Given the description of an element on the screen output the (x, y) to click on. 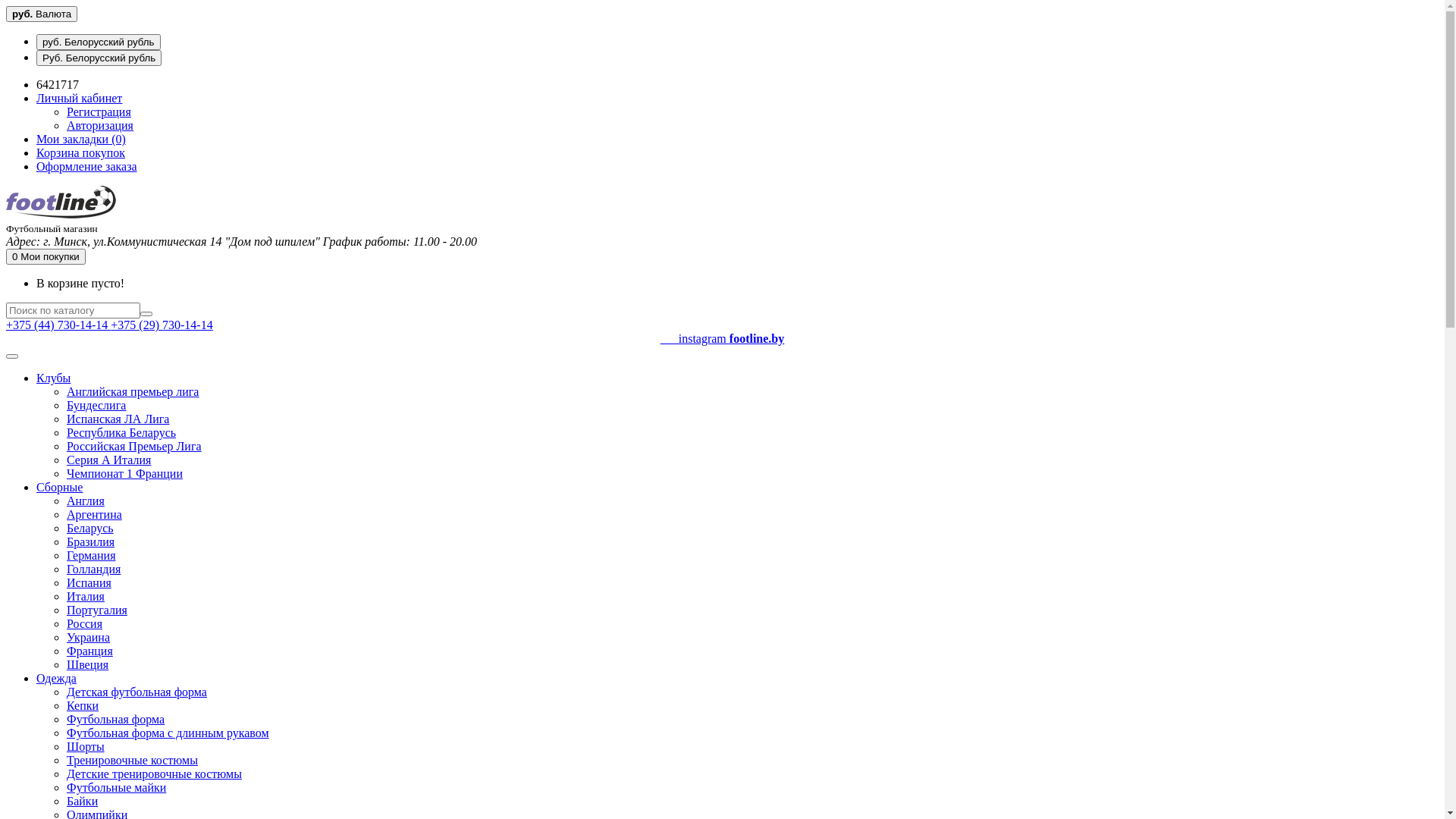
footline Element type: hover (61, 201)
+375 (44) 730-14-14 Element type: text (58, 324)
      instagram footline.by Element type: text (722, 345)
+375 (29) 730-14-14 Element type: text (161, 324)
